Given the description of an element on the screen output the (x, y) to click on. 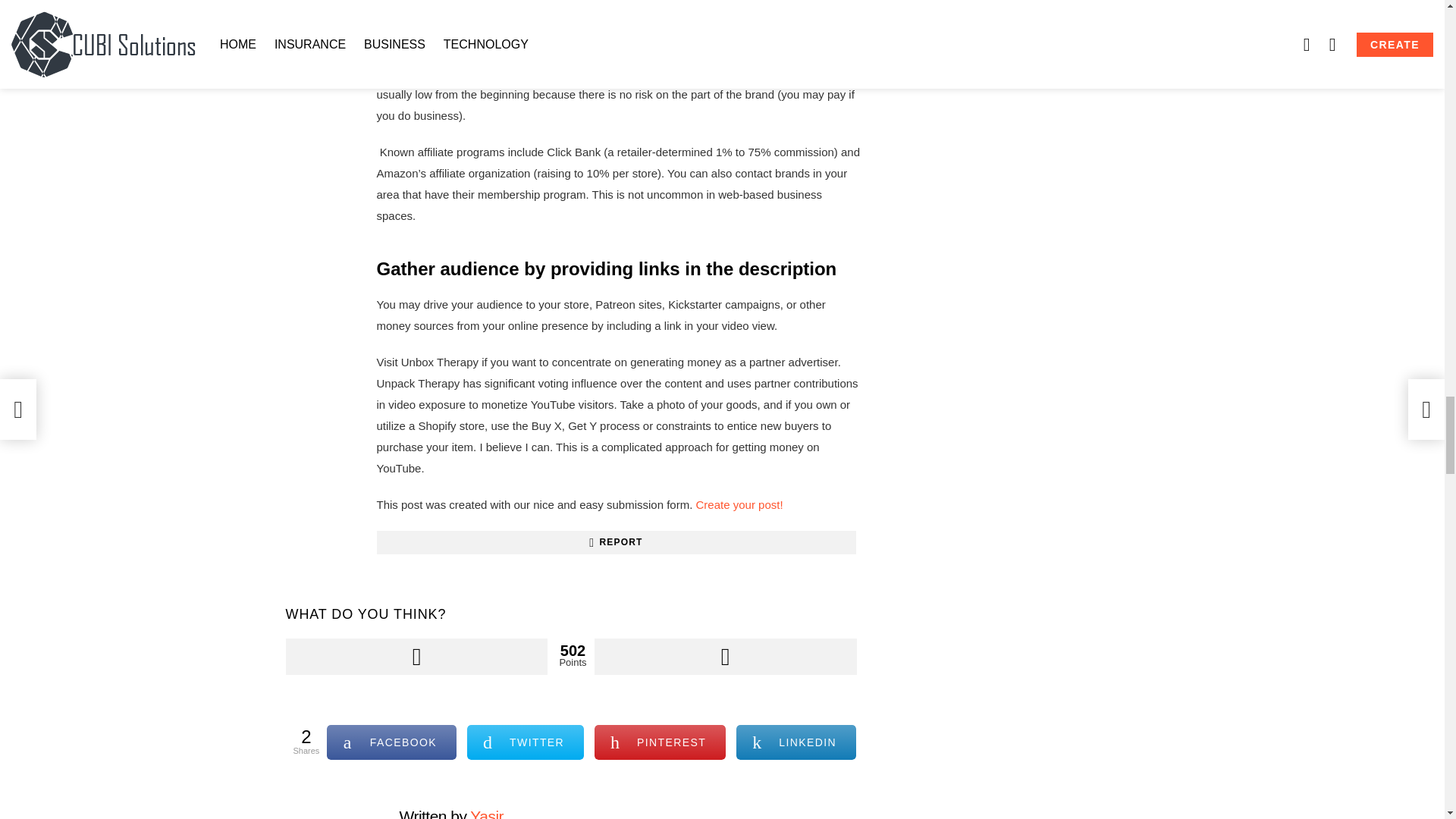
Upvote (416, 656)
Share on Facebook (390, 742)
Share on Pinterest (659, 742)
Create your post! (739, 504)
Share on LinkedIn (796, 742)
Share on Twitter (525, 742)
Downvote (725, 656)
